Given the description of an element on the screen output the (x, y) to click on. 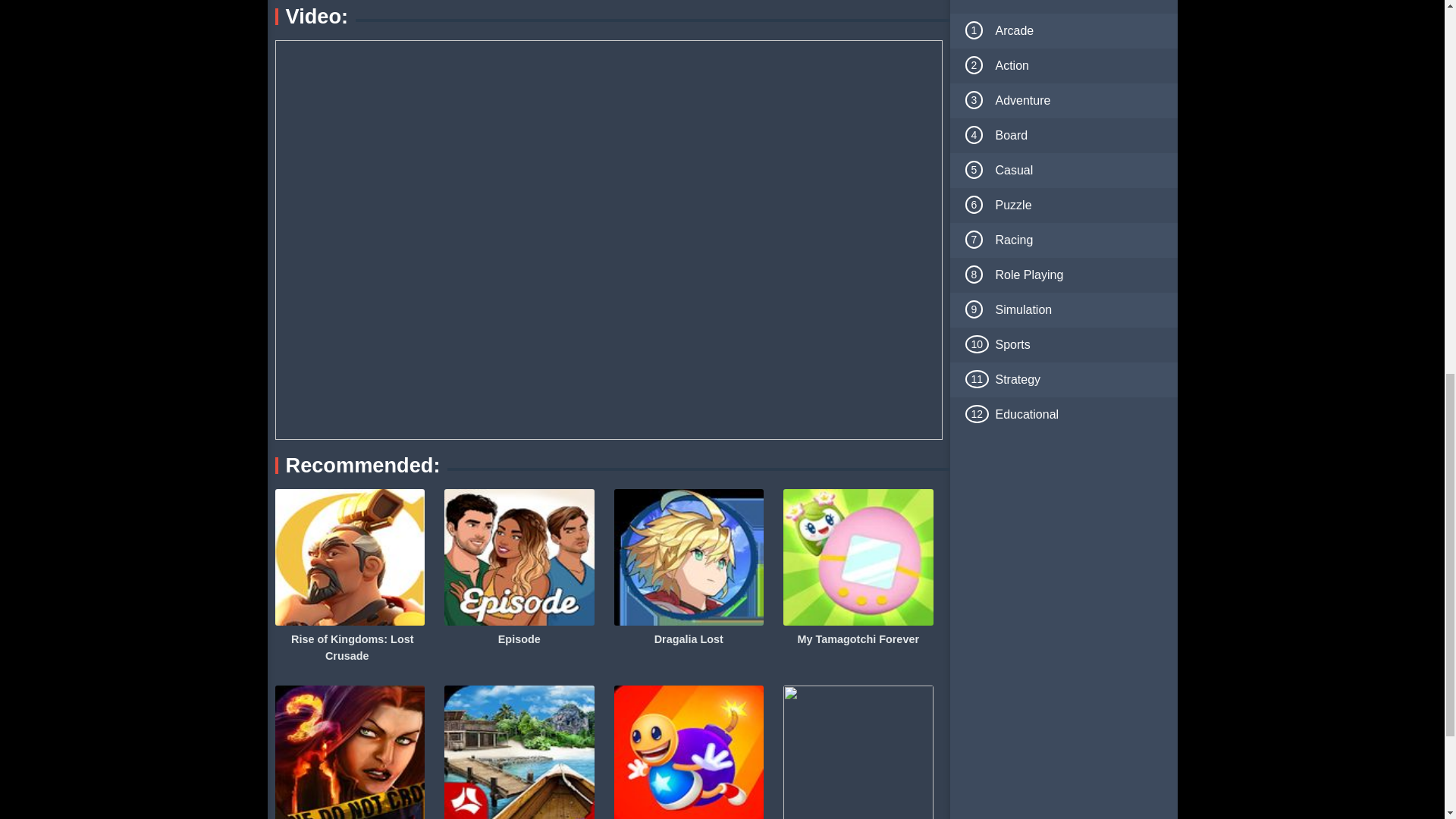
Download hack Dragalia Lost for Android - MOD Unlocked (689, 639)
My Tamagotchi Forever (858, 639)
Rise of Kingdoms: Lost Crusade (349, 647)
Dragalia Lost (689, 639)
Download hack Episode for Android - MOD Money (519, 639)
Episode (519, 639)
